Given the description of an element on the screen output the (x, y) to click on. 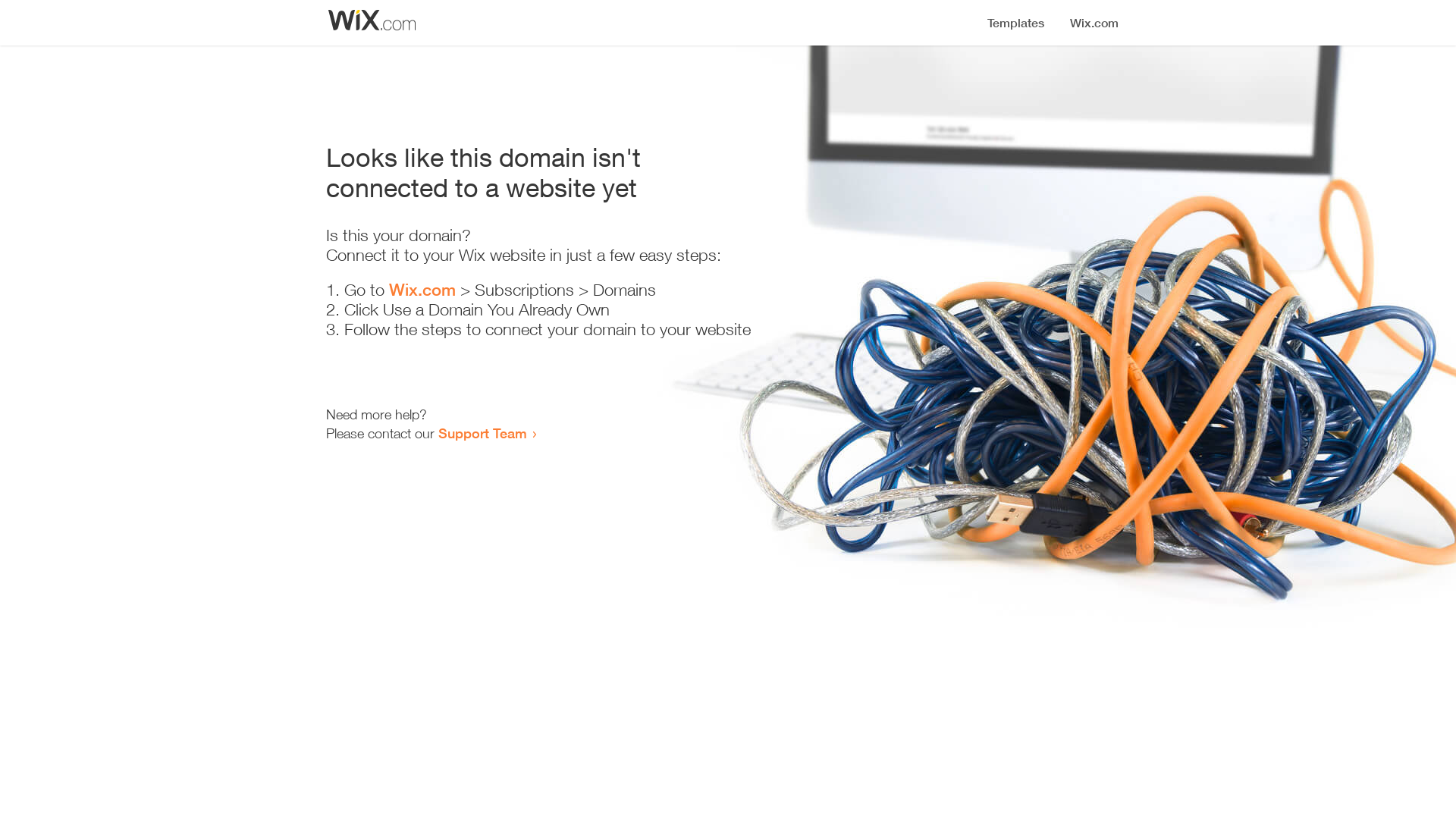
Wix.com Element type: text (422, 289)
Support Team Element type: text (482, 432)
